Given the description of an element on the screen output the (x, y) to click on. 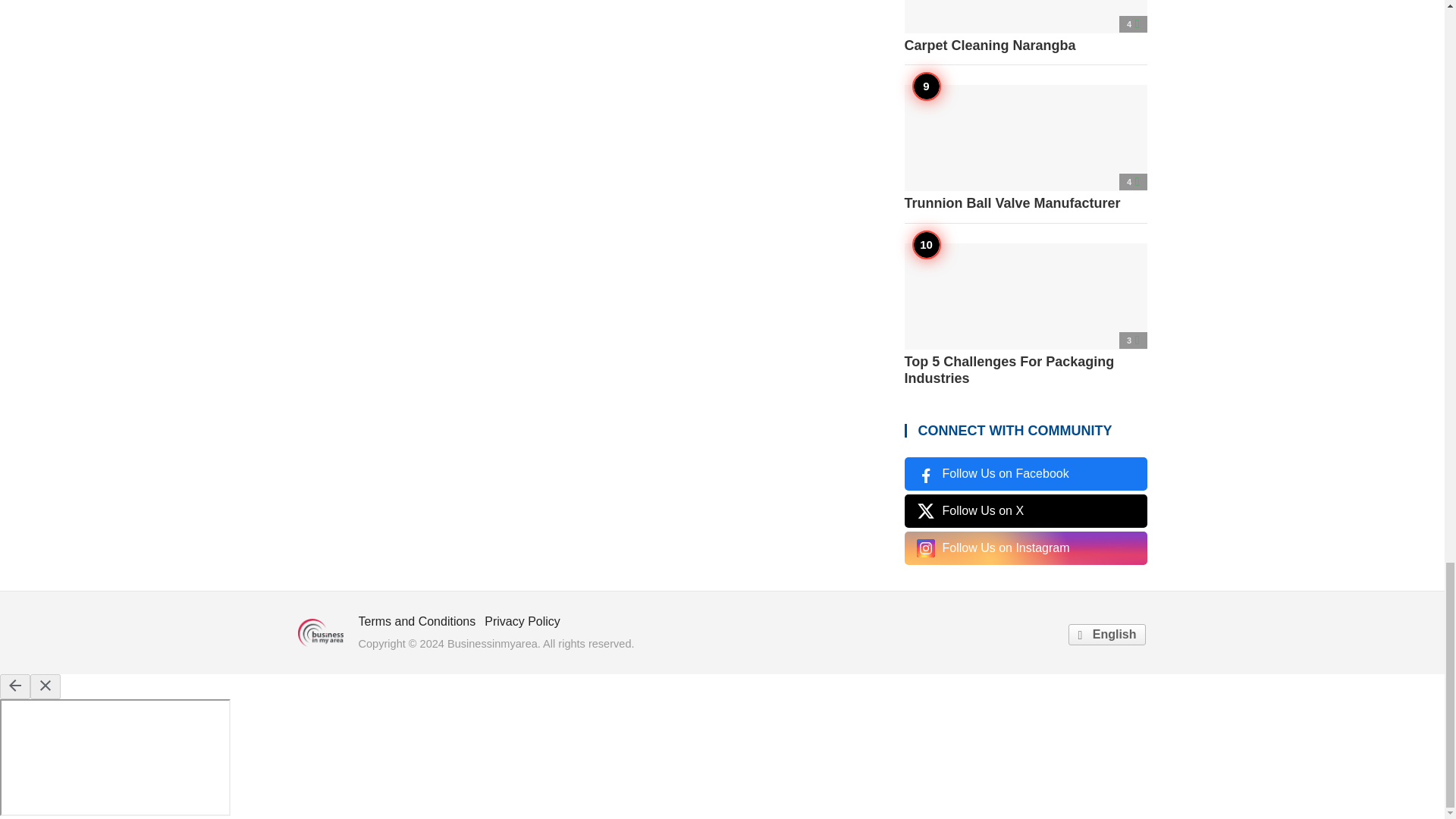
Top 5 Challenges For Packaging Industries (1025, 315)
Trunnion Ball Valve Manufacturer (1025, 148)
Carpet Cleaning Narangba (1025, 27)
